Given the description of an element on the screen output the (x, y) to click on. 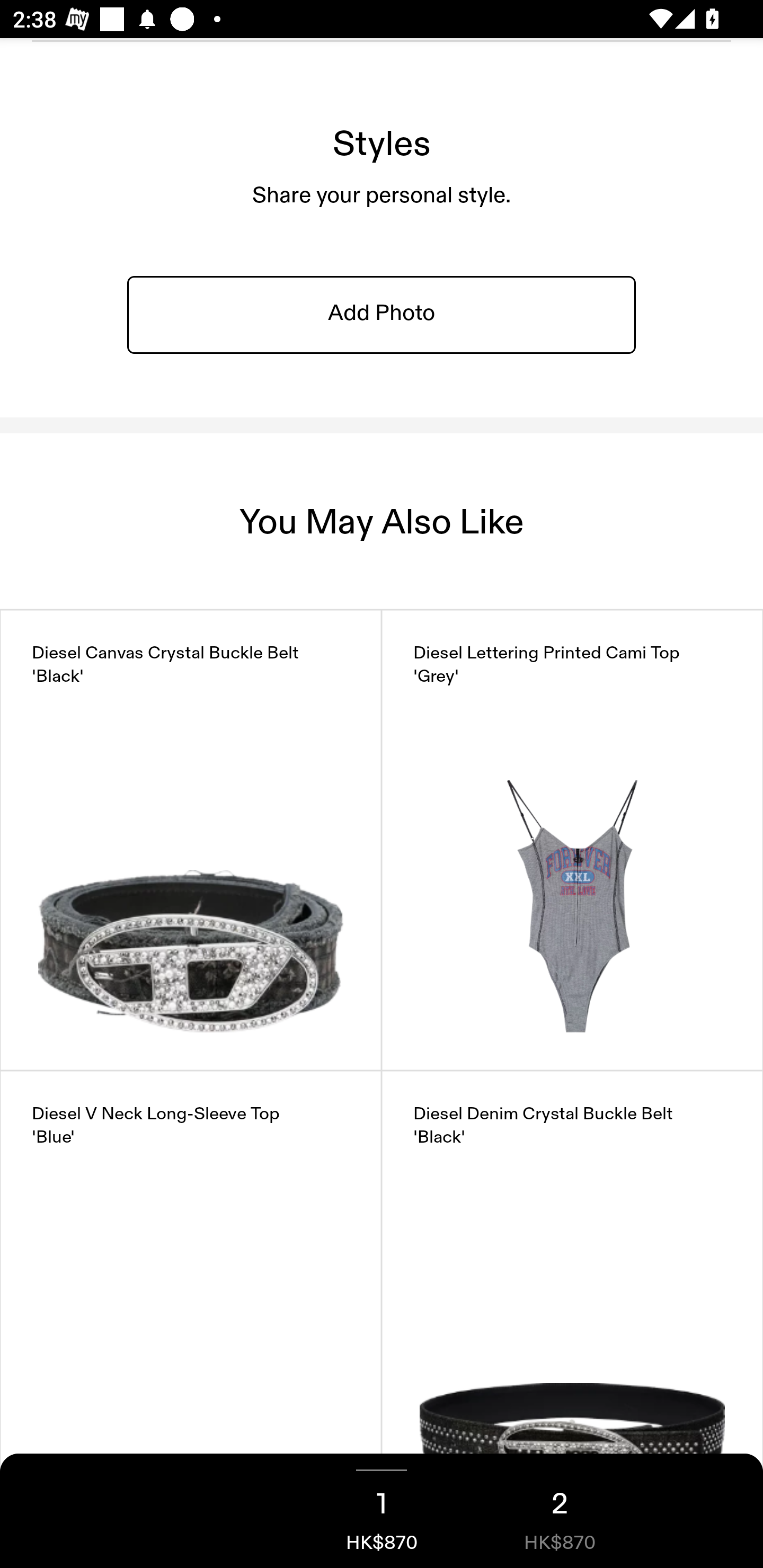
Add Photo (381, 314)
Diesel Canvas Crystal Buckle Belt 'Black' (190, 839)
Diesel Lettering Printed Cami Top 'Grey' (572, 839)
Diesel V Neck Long-Sleeve Top 'Blue' (190, 1300)
Diesel Denim Crystal Buckle Belt 'Black' (572, 1300)
1 HK$870 (381, 1510)
2 HK$870 (559, 1510)
